Given the description of an element on the screen output the (x, y) to click on. 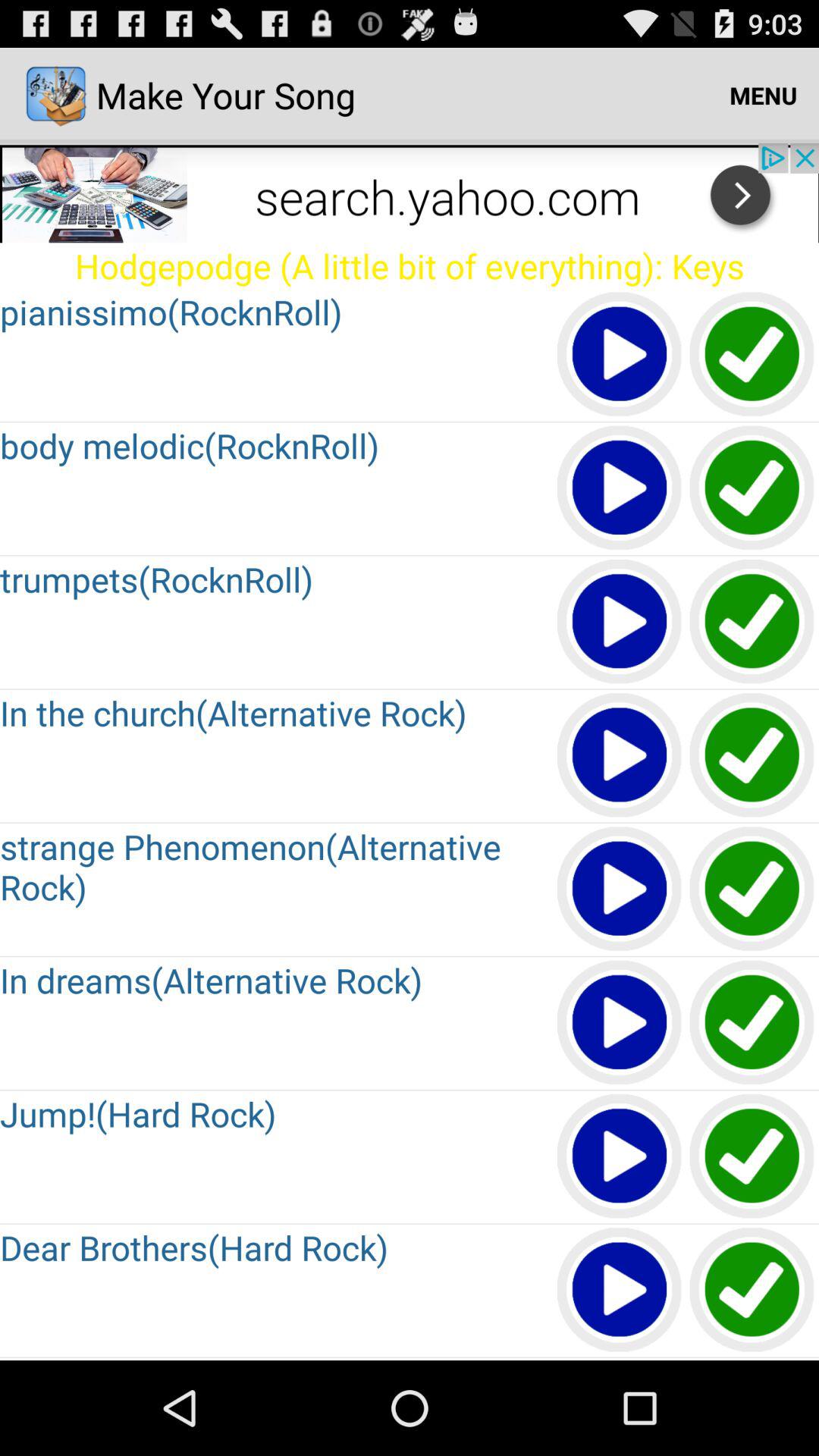
select botton (752, 488)
